Given the description of an element on the screen output the (x, y) to click on. 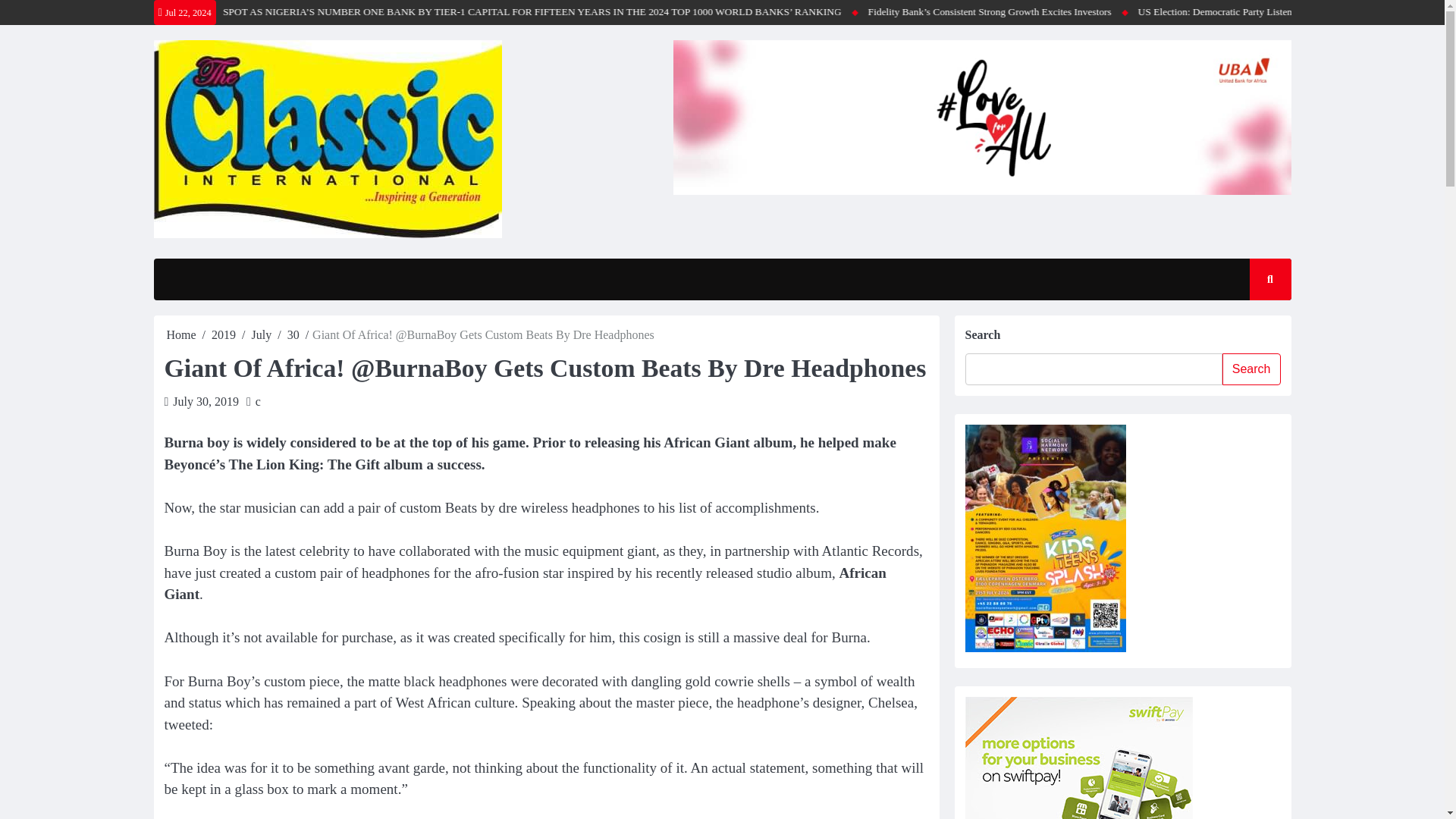
2019 (223, 334)
July (261, 334)
30 (292, 334)
Home (181, 334)
July 30, 2019 (205, 400)
Search (1256, 323)
